Given the description of an element on the screen output the (x, y) to click on. 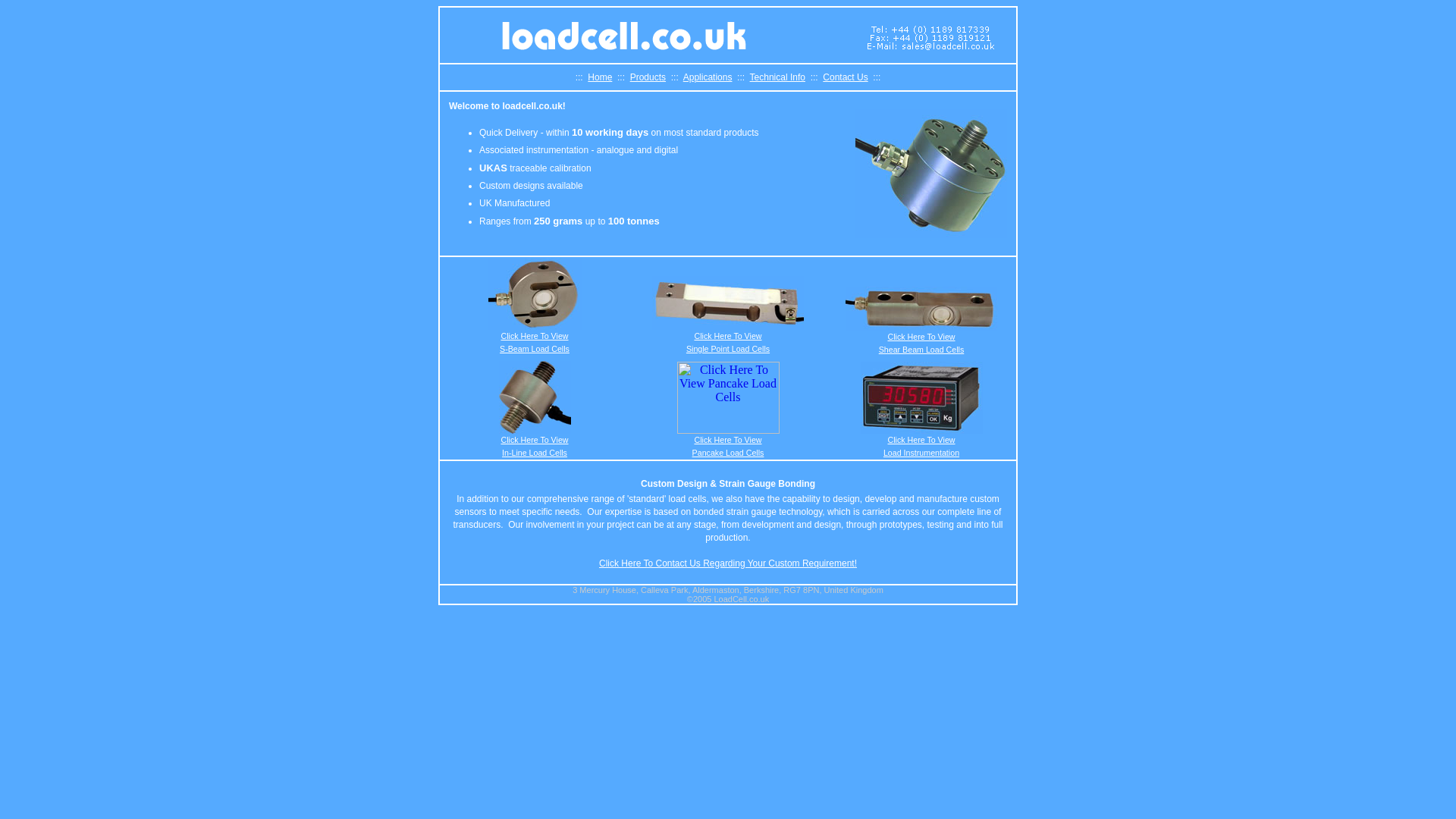
Click Here To View
In-Line Load Cells Element type: text (533, 446)
Products Element type: text (647, 76)
Applications Element type: text (707, 76)
Click Here To View
Shear Beam Load Cells Element type: text (921, 343)
Click Here To View
Load Instrumentation Element type: text (921, 446)
Click Here To View
Pancake Load Cells Element type: text (728, 446)
Click Here To View
S-Beam Load Cells Element type: text (534, 342)
Click Here To View
Single Point Load Cells Element type: text (727, 342)
Technical Info Element type: text (777, 76)
Click Here To Contact Us Regarding Your Custom Requirement! Element type: text (727, 563)
Contact Us Element type: text (844, 76)
Home Element type: text (599, 76)
